Given the description of an element on the screen output the (x, y) to click on. 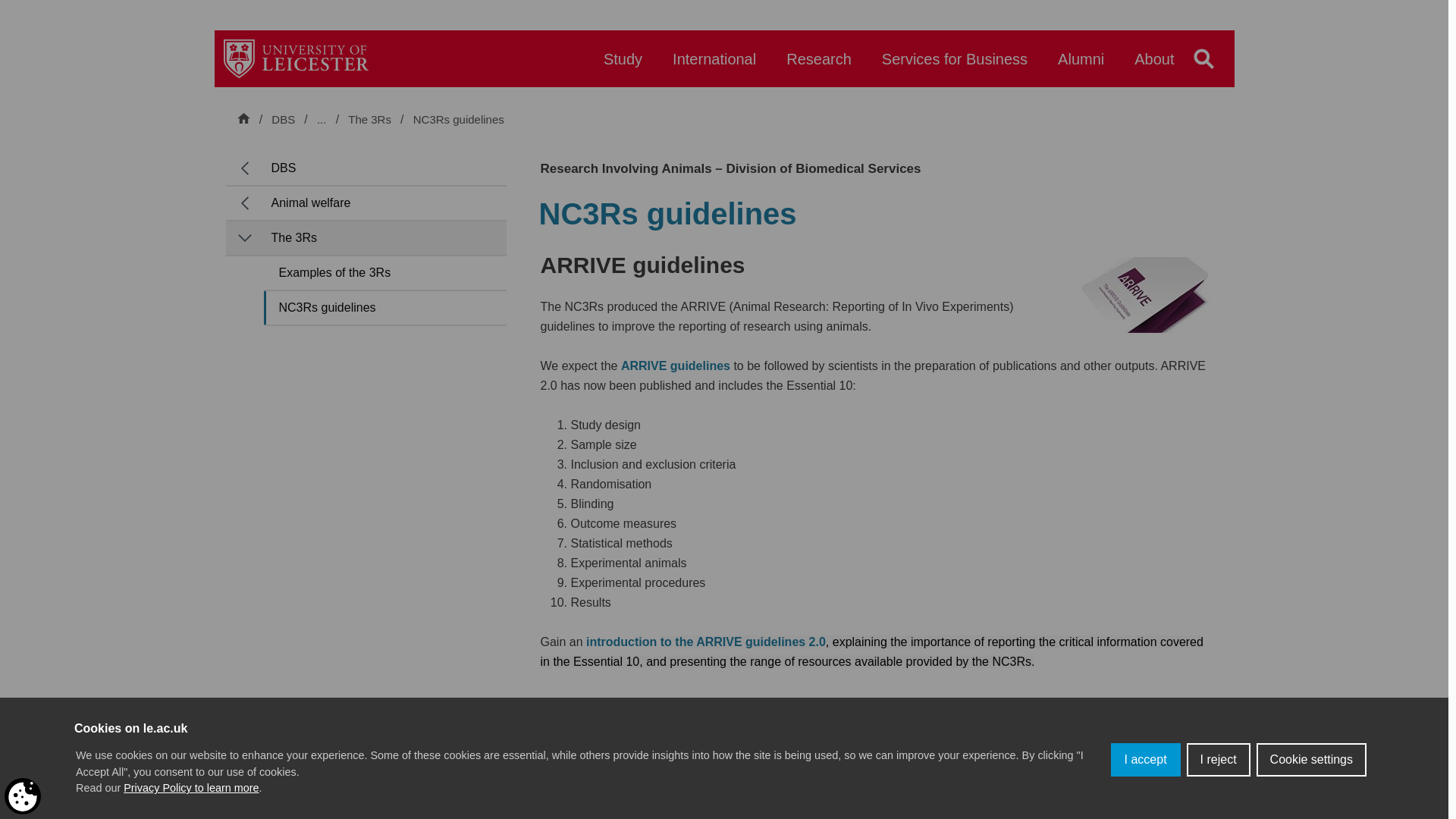
Cookie settings (1311, 779)
DBS (282, 119)
Animal welfare (384, 119)
I reject (1218, 789)
NC3Rs guidelines (458, 119)
Study (623, 65)
Return to homepage (295, 58)
I accept (1145, 802)
The 3Rs (370, 119)
